Given the description of an element on the screen output the (x, y) to click on. 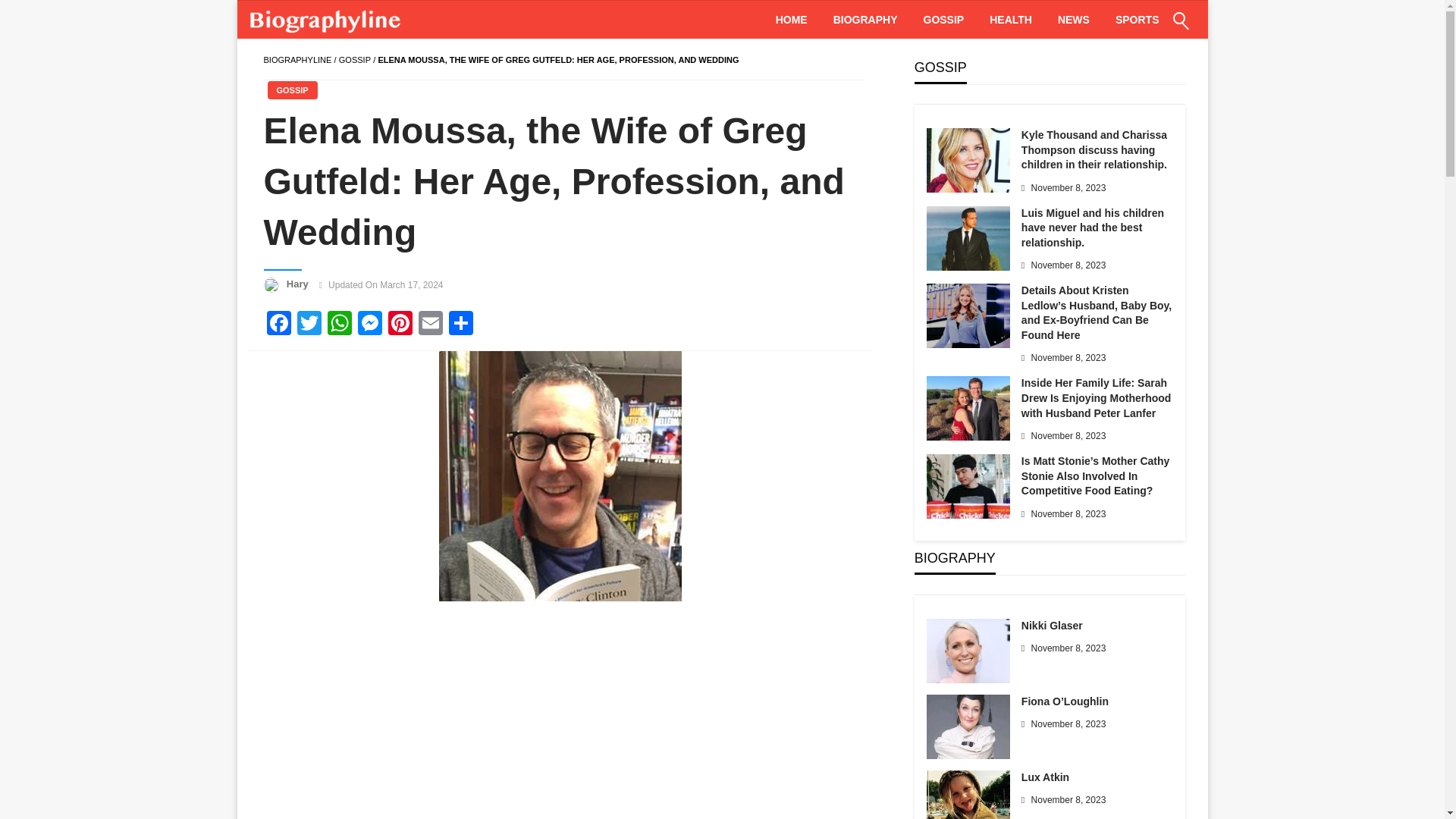
Hary (298, 283)
Facebook (278, 325)
Email (429, 325)
GOSSIP (355, 59)
Messenger (370, 325)
Email (429, 325)
BIOGRAPHYLINE (297, 59)
Messenger (370, 325)
